Given the description of an element on the screen output the (x, y) to click on. 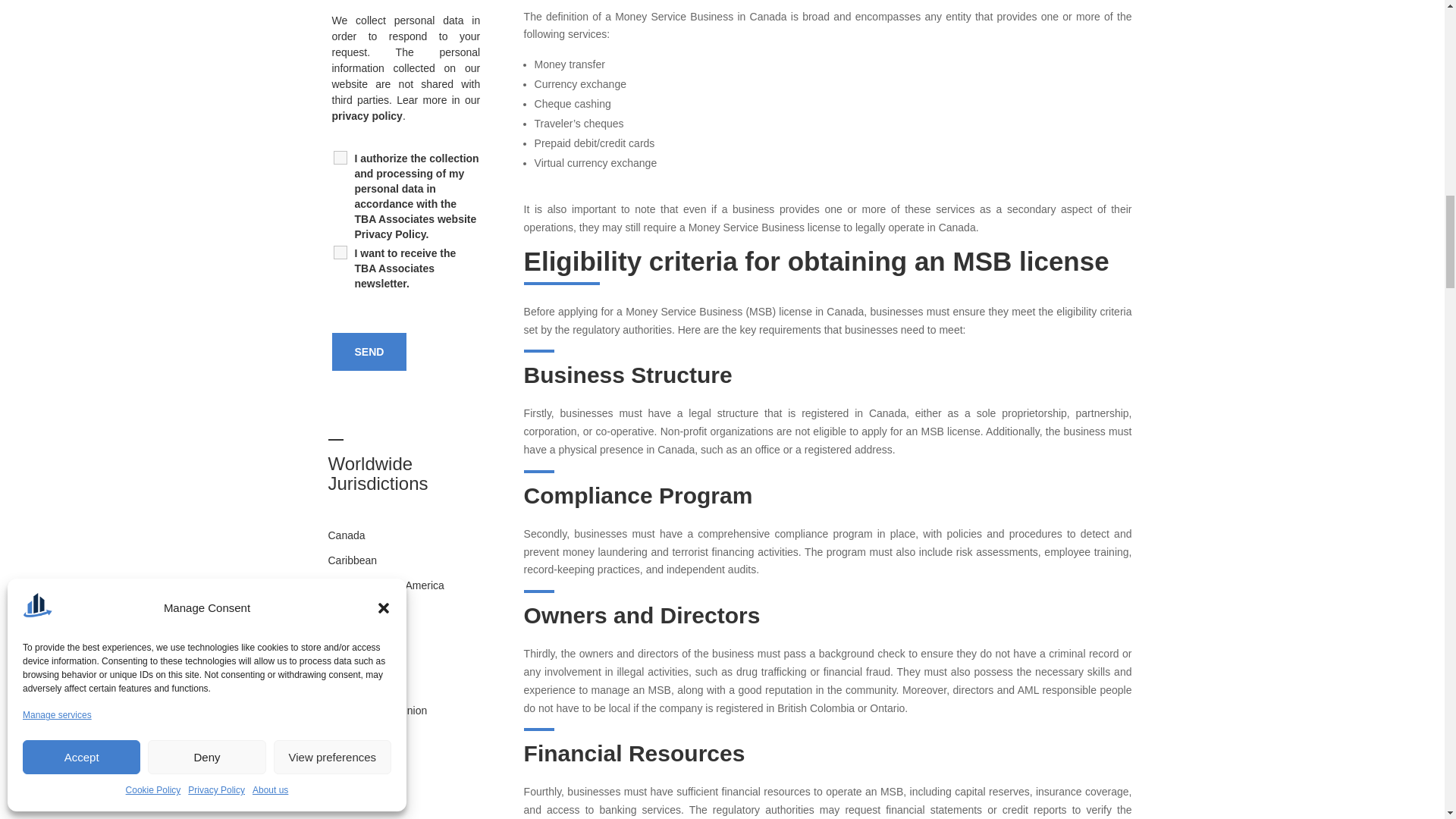
SEND (369, 351)
